Given the description of an element on the screen output the (x, y) to click on. 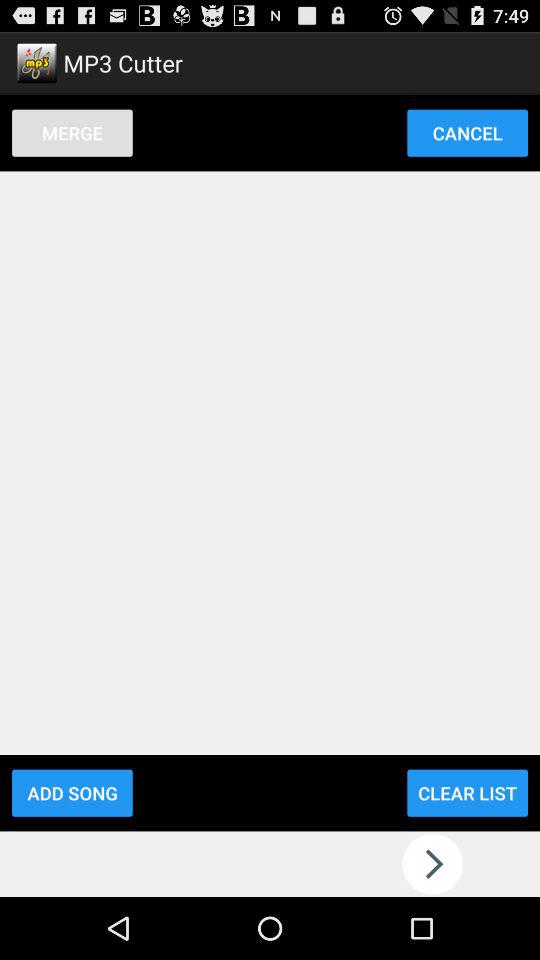
scroll until the cancel icon (467, 132)
